Given the description of an element on the screen output the (x, y) to click on. 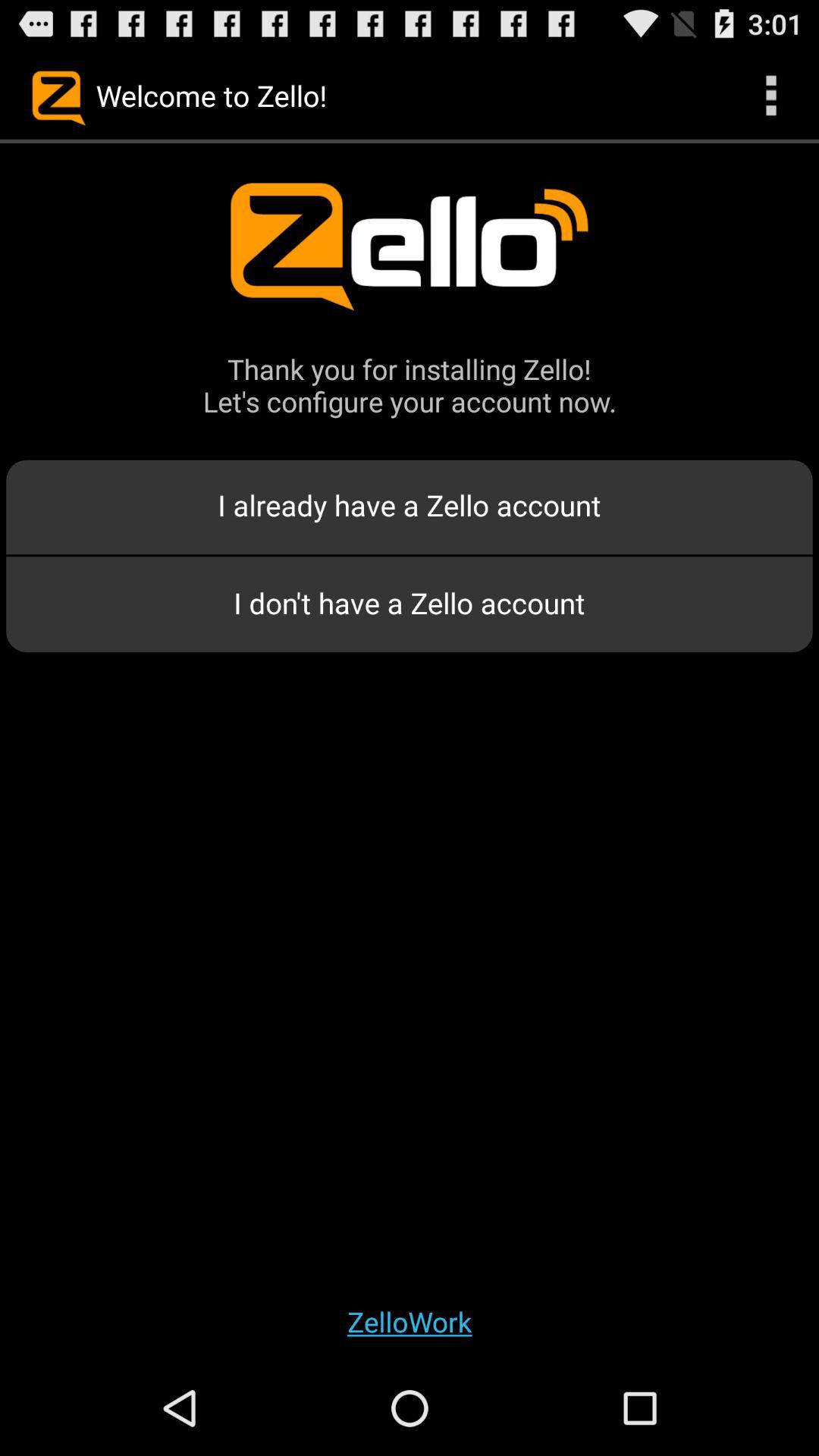
open icon to the right of the welcome to zello! (771, 95)
